Given the description of an element on the screen output the (x, y) to click on. 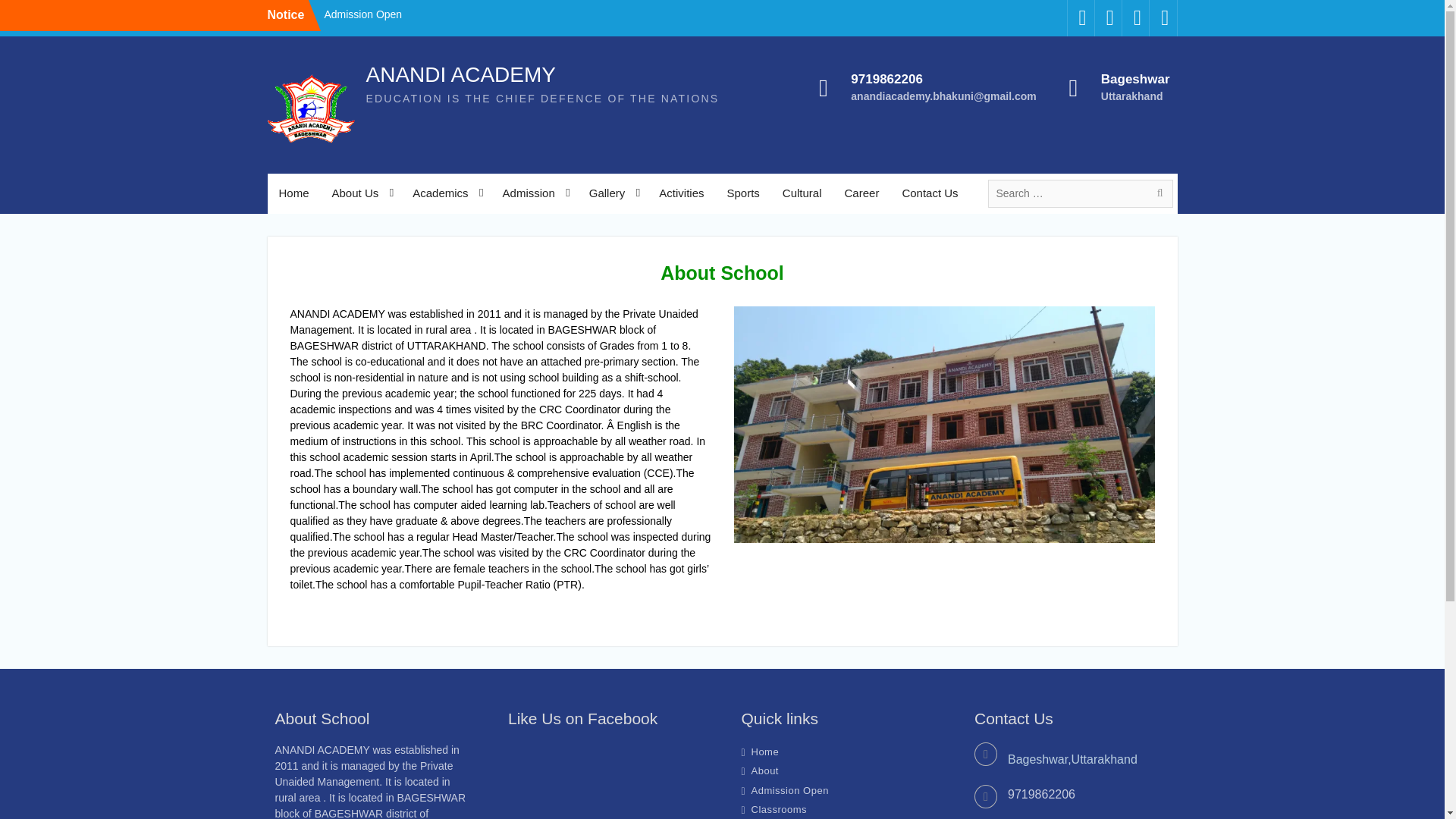
ANANDI ACADEMY (460, 74)
Sports (742, 193)
Contact Us (929, 193)
Classrooms (778, 808)
Career (861, 193)
Admission (535, 193)
9719862206 (943, 79)
Home (293, 193)
Cultural (801, 193)
Activities (680, 193)
Home (764, 751)
Gallery (612, 193)
Admission Open (789, 789)
Academics (445, 193)
Admission Open (362, 14)
